Given the description of an element on the screen output the (x, y) to click on. 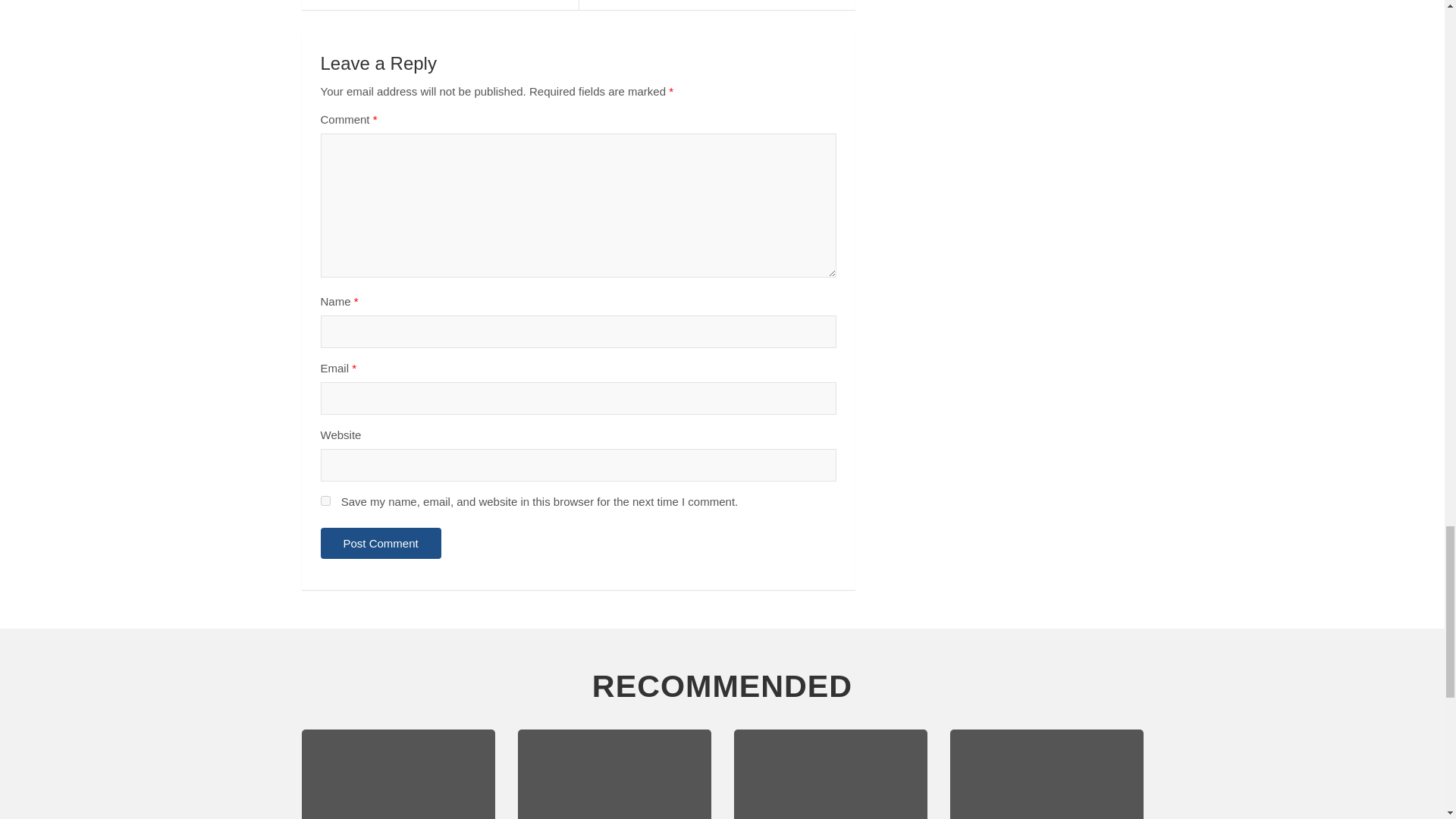
Post Comment (380, 542)
yes (325, 501)
Post Comment (380, 542)
